Given the description of an element on the screen output the (x, y) to click on. 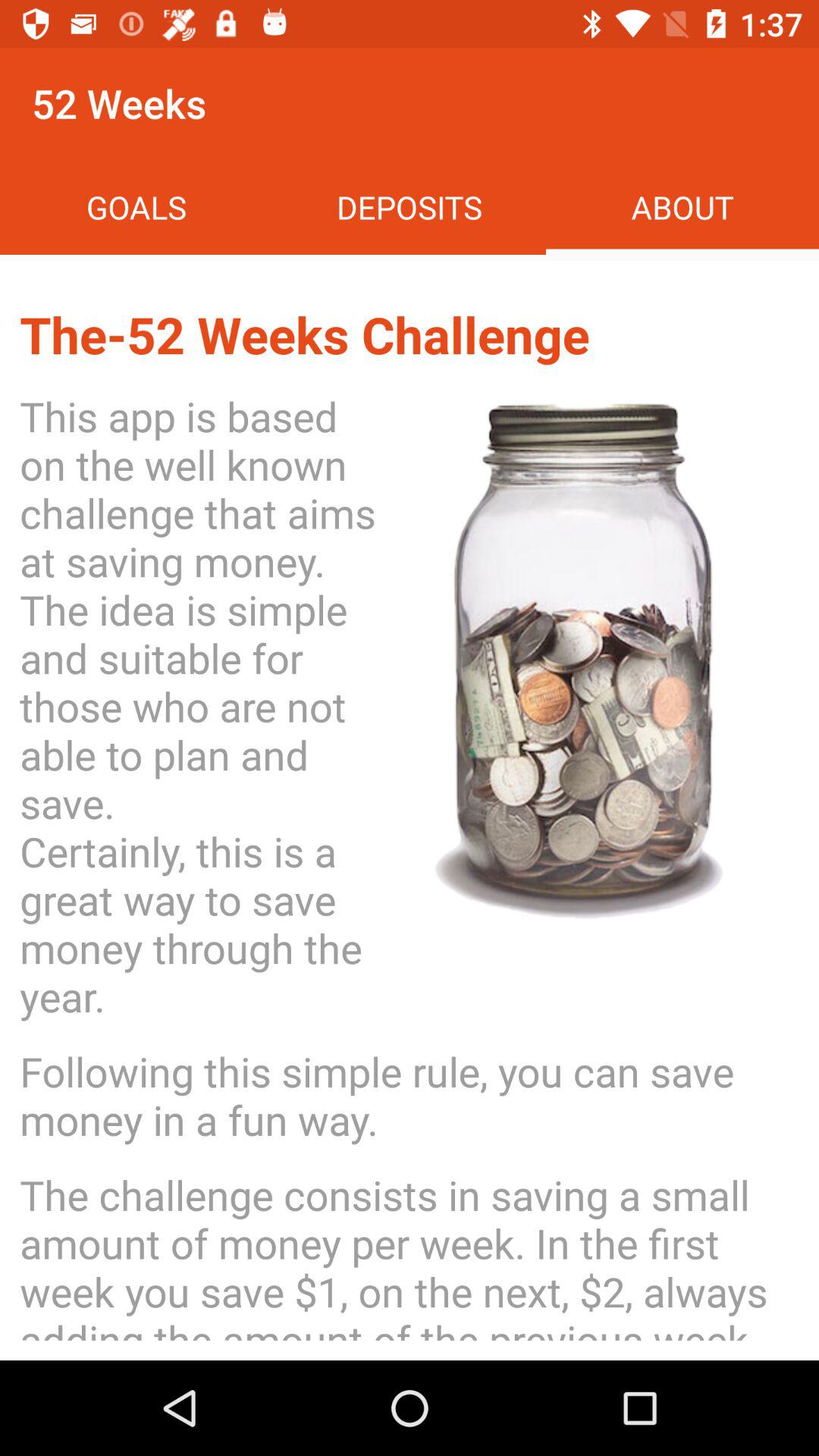
turn on the item to the right of goals (409, 206)
